Given the description of an element on the screen output the (x, y) to click on. 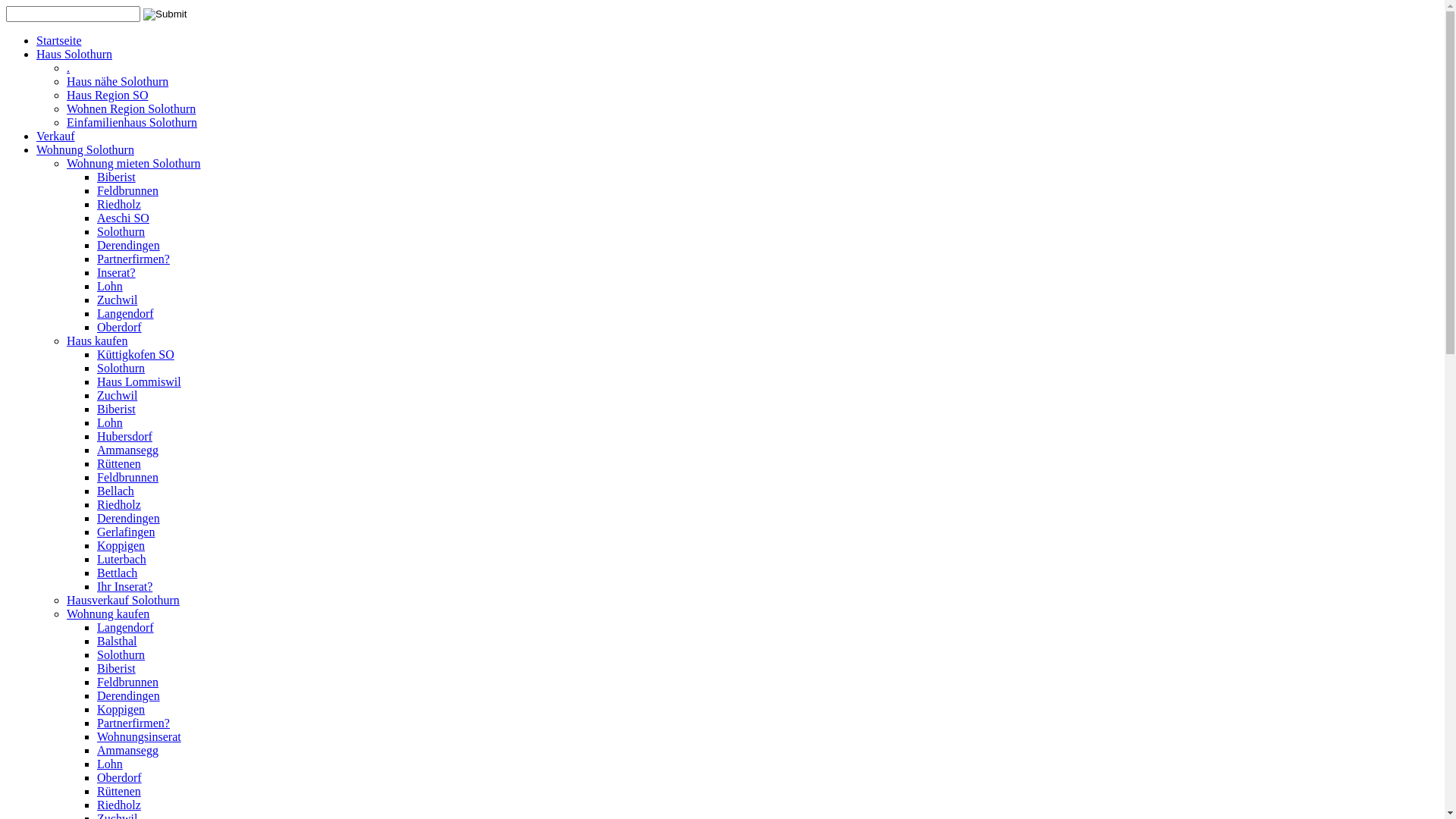
Ihr Inserat? Element type: text (124, 586)
Wohnung mieten Solothurn Element type: text (133, 162)
Riedholz Element type: text (119, 203)
Lohn Element type: text (109, 763)
Derendingen Element type: text (128, 695)
Luterbach Element type: text (121, 558)
Biberist Element type: text (116, 408)
Wohnung kaufen Element type: text (107, 613)
Koppigen Element type: text (120, 545)
Bellach Element type: text (115, 490)
Haus Solothurn Element type: text (74, 53)
Lohn Element type: text (109, 422)
Ammansegg Element type: text (127, 749)
Startseite Element type: text (58, 40)
Haus Region SO Element type: text (107, 94)
Partnerfirmen? Element type: text (133, 722)
Balsthal Element type: text (116, 640)
Hubersdorf Element type: text (124, 435)
Bettlach Element type: text (117, 572)
Partnerfirmen? Element type: text (133, 258)
. Element type: text (67, 67)
Zuchwil Element type: text (117, 395)
Haus kaufen Element type: text (96, 340)
Feldbrunnen Element type: text (127, 476)
Derendingen Element type: text (128, 244)
Verkauf Element type: text (55, 135)
Hausverkauf Solothurn Element type: text (122, 599)
Biberist Element type: text (116, 176)
Biberist Element type: text (116, 668)
Inserat? Element type: text (116, 272)
Riedholz Element type: text (119, 804)
Solothurn Element type: text (120, 231)
Derendingen Element type: text (128, 517)
Wohnen Region Solothurn Element type: text (130, 108)
Gerlafingen Element type: text (125, 531)
Ammansegg Element type: text (127, 449)
Wohnung Solothurn Element type: text (85, 149)
Lohn Element type: text (109, 285)
Oberdorf Element type: text (119, 326)
Langendorf Element type: text (125, 627)
Riedholz Element type: text (119, 504)
Koppigen Element type: text (120, 708)
Zuchwil Element type: text (117, 299)
Einfamilienhaus Solothurn Element type: text (131, 122)
Langendorf Element type: text (125, 313)
Oberdorf Element type: text (119, 777)
Solothurn Element type: text (120, 367)
Solothurn Element type: text (120, 654)
Feldbrunnen Element type: text (127, 190)
Feldbrunnen Element type: text (127, 681)
Aeschi SO Element type: text (123, 217)
Haus Lommiswil Element type: text (139, 381)
Wohnungsinserat Element type: text (139, 736)
